Given the description of an element on the screen output the (x, y) to click on. 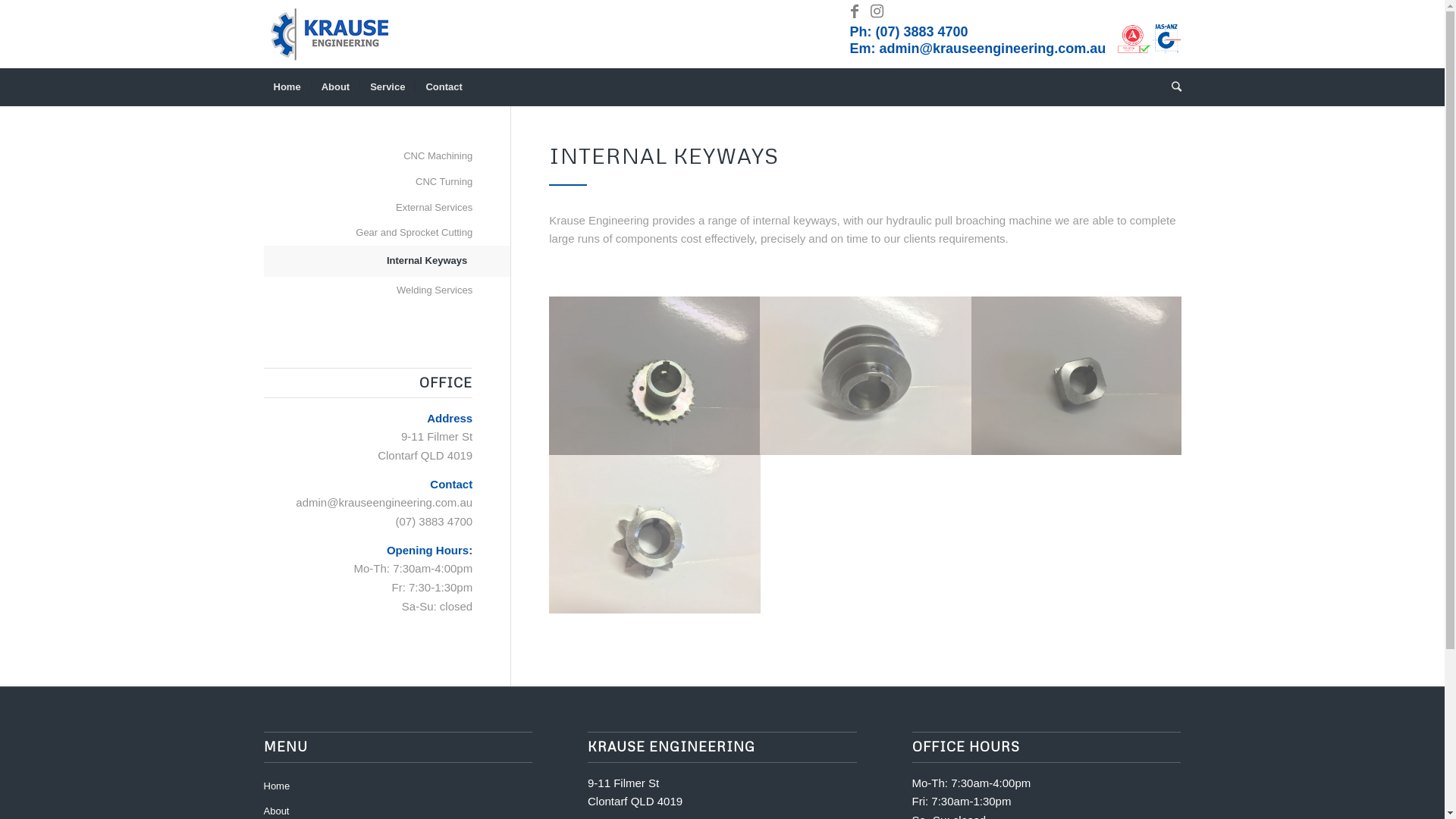
Gear and Sprocket Cutting Element type: text (368, 233)
About Element type: text (335, 87)
External Services Element type: text (368, 208)
2 Element type: hover (865, 375)
Facebook Element type: hover (854, 11)
Instagram Element type: hover (877, 11)
CNC Machining Element type: text (368, 156)
Welding Services Element type: text (368, 291)
Internal Keyways Element type: text (368, 261)
Contact Element type: text (442, 87)
1 Element type: hover (654, 375)
Service Element type: text (386, 87)
Em: admin@krauseengineering.com.au Element type: text (978, 48)
4 Element type: hover (654, 534)
Home Element type: text (398, 787)
3 Element type: hover (1077, 375)
CNC Turning Element type: text (368, 182)
Home Element type: text (286, 87)
Ph: (07) 3883 4700 Element type: text (909, 31)
